Given the description of an element on the screen output the (x, y) to click on. 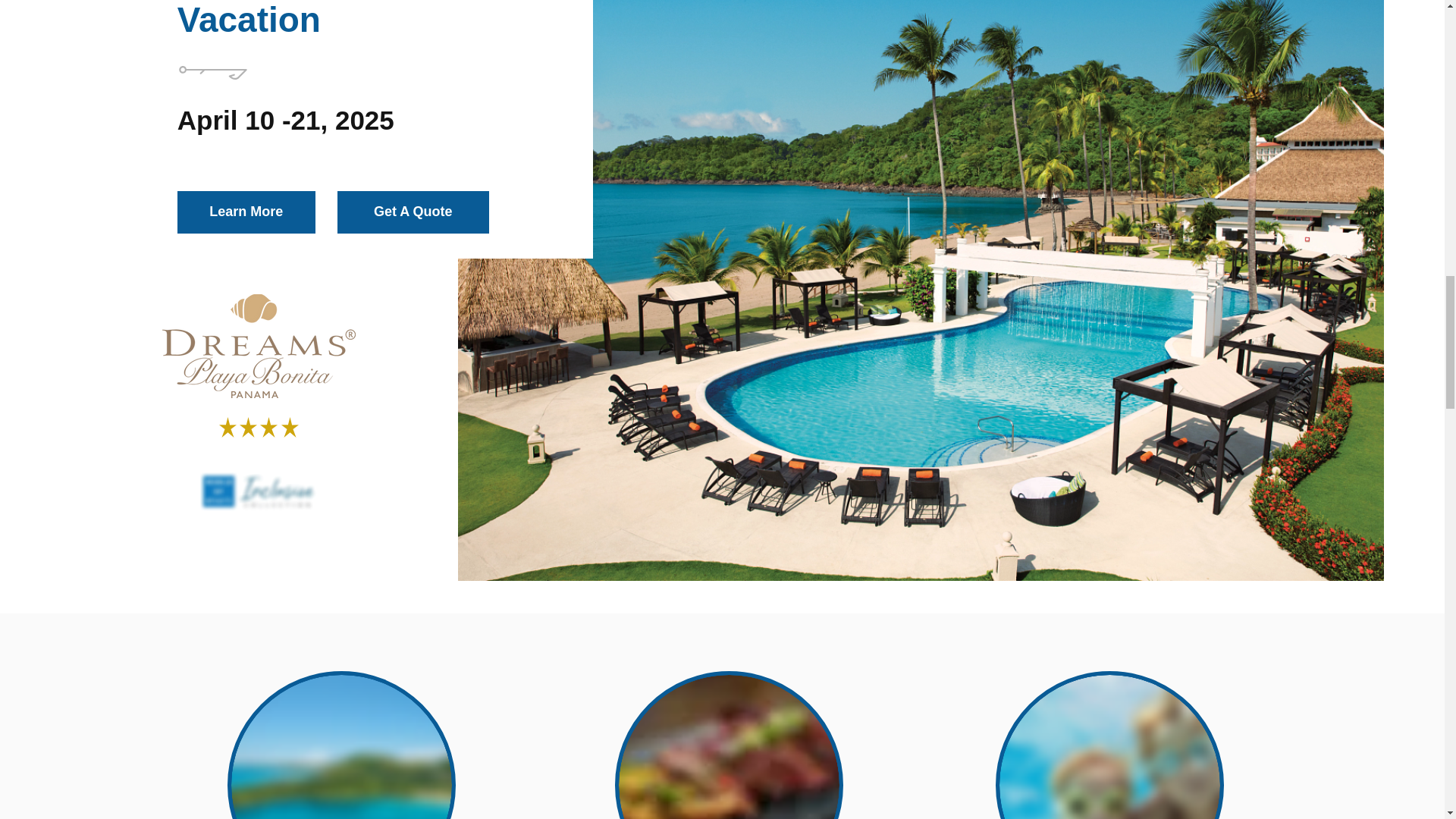
guy2.jpg (728, 744)
guy2.jpg (1109, 744)
guy2.jpg (341, 744)
Get A Quote (413, 211)
Learn More (246, 211)
